Given the description of an element on the screen output the (x, y) to click on. 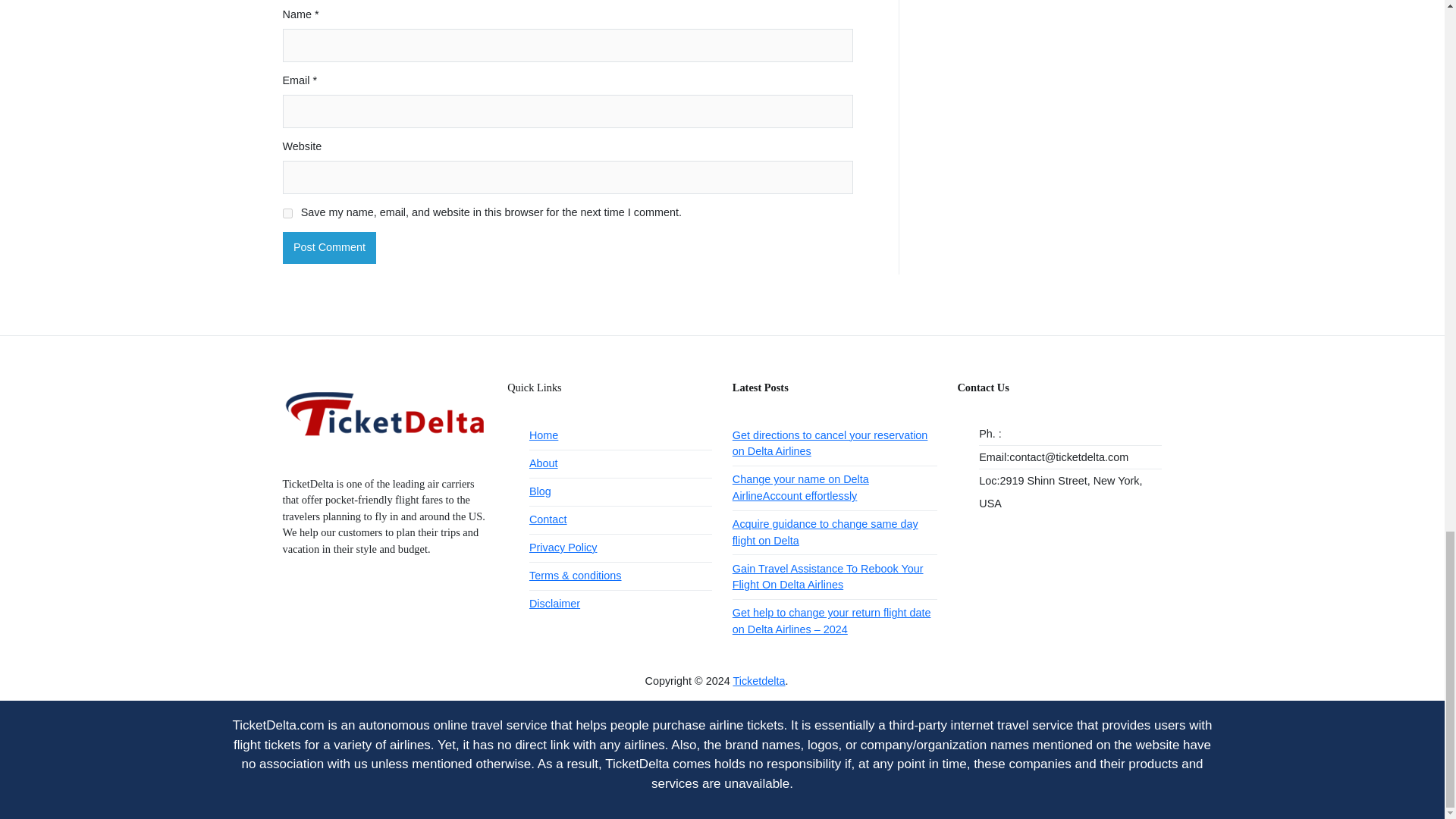
Post Comment (328, 247)
Post Comment (328, 247)
Ticketdelta (758, 680)
yes (287, 213)
